Given the description of an element on the screen output the (x, y) to click on. 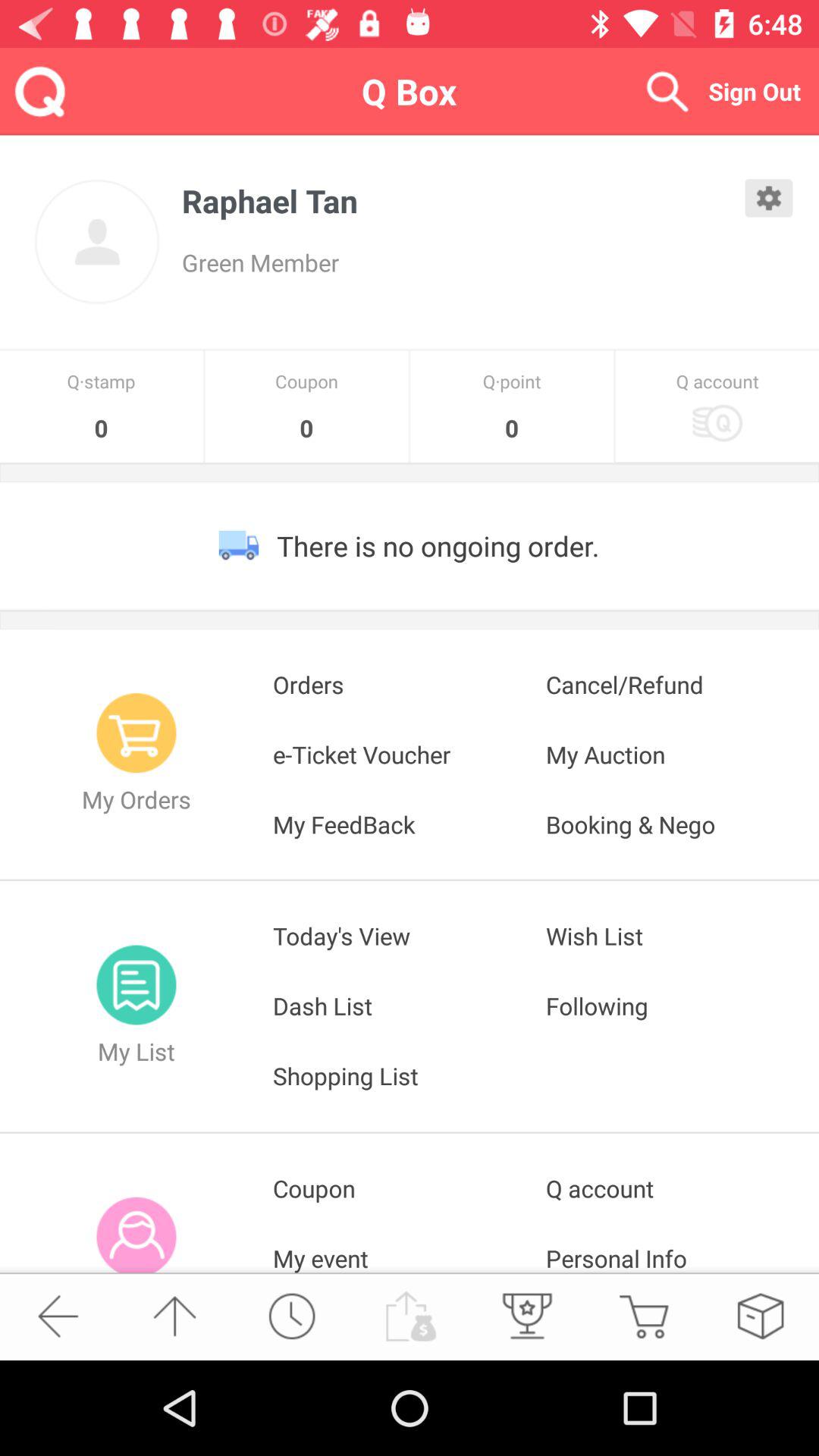
checks on shipping area (760, 1316)
